Given the description of an element on the screen output the (x, y) to click on. 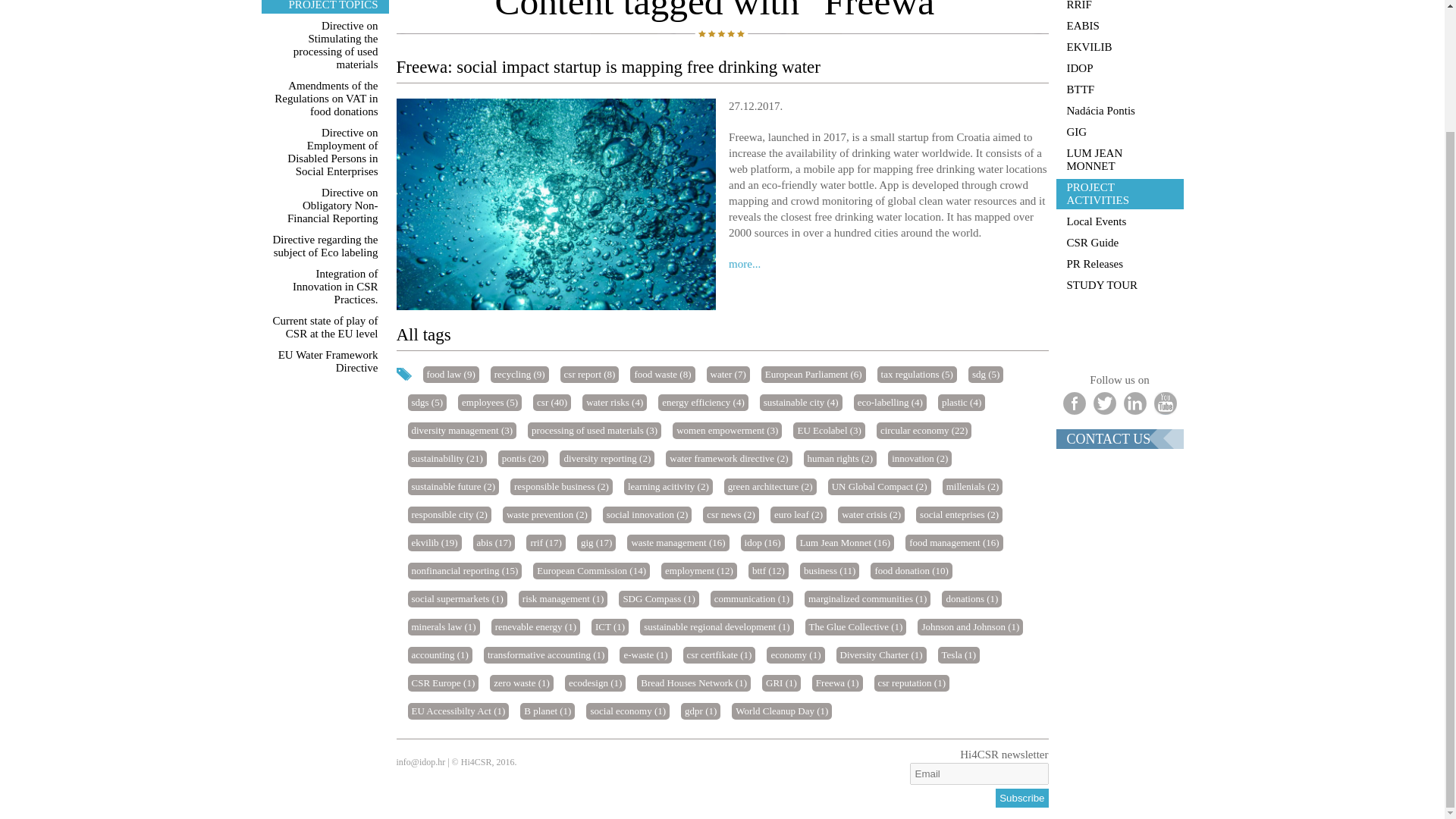
Directive on Stimulating the processing of used materials (324, 45)
Twitter (1104, 403)
YouTube (1165, 403)
Current state of play of CSR at the EU level (324, 327)
more... (744, 263)
Amendments of the Regulations on VAT in food donations (324, 98)
Directive on Obligatory Non-Financial Reporting (324, 205)
EU Water Framework Directive (324, 361)
Integration of Innovation in CSR Practices. (324, 286)
PROJECT TOPICS (324, 6)
